Given the description of an element on the screen output the (x, y) to click on. 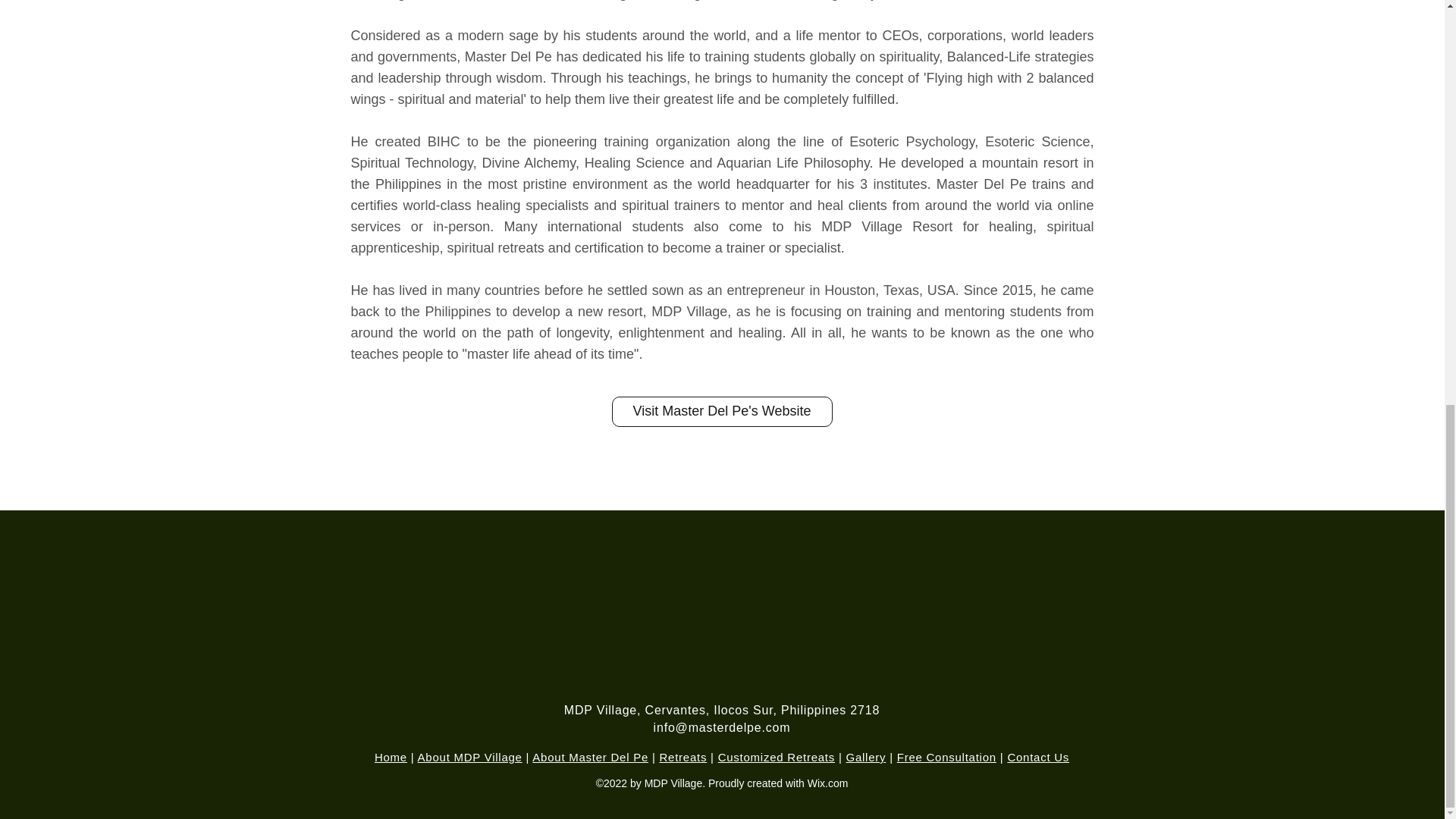
Gallery (865, 757)
Contact Us (1037, 757)
Customized Retreats (775, 757)
About Master Del Pe (589, 757)
Free Consultation (945, 757)
Visit Master Del Pe's Website (721, 411)
Home (390, 757)
About MDP Village (469, 757)
Retreats (683, 757)
